Given the description of an element on the screen output the (x, y) to click on. 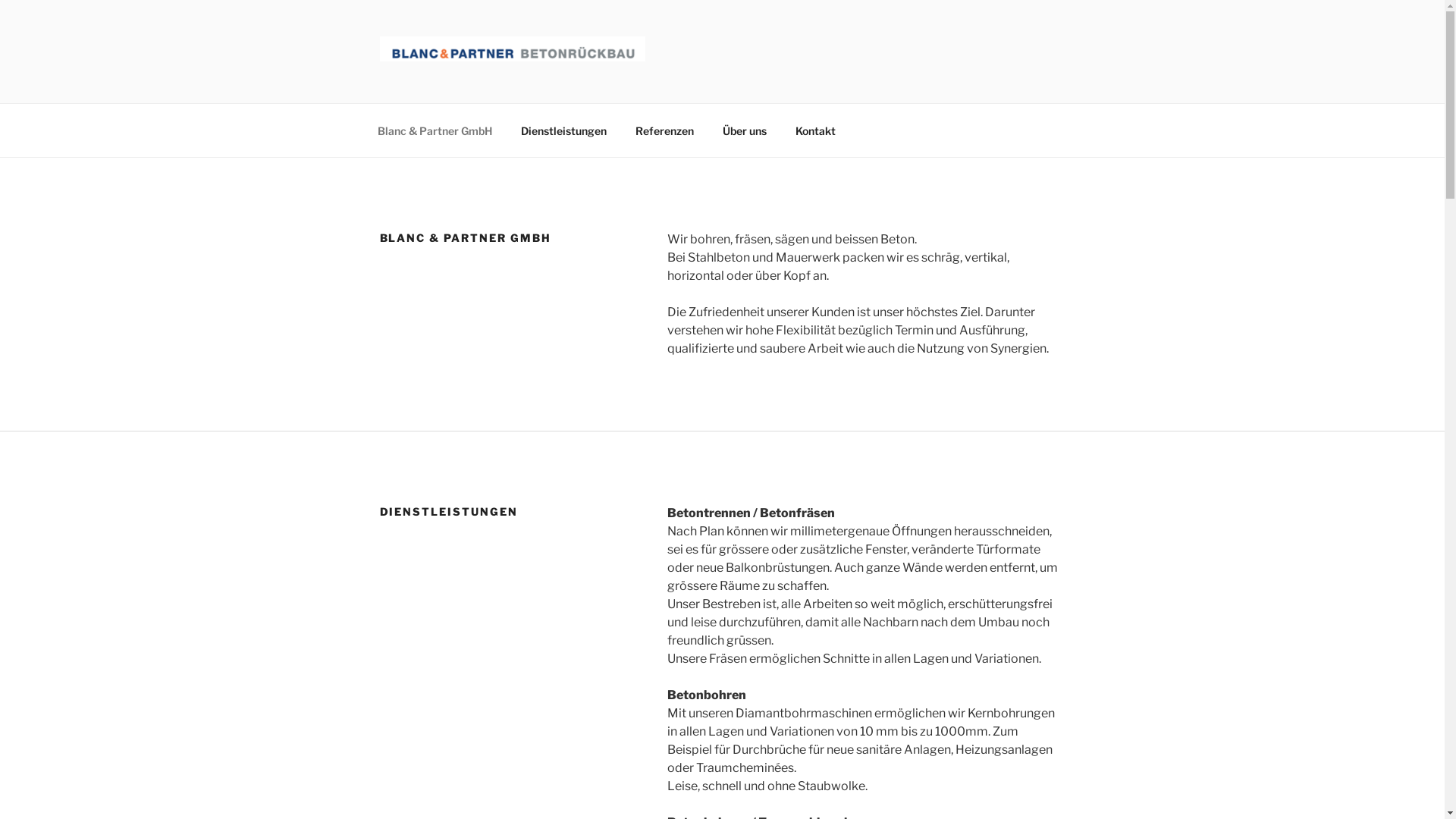
BLANC&PARTNER Element type: text (521, 83)
Blanc & Partner GmbH Element type: text (434, 130)
Referenzen Element type: text (663, 130)
Dienstleistungen Element type: text (564, 130)
Kontakt Element type: text (815, 130)
